Given the description of an element on the screen output the (x, y) to click on. 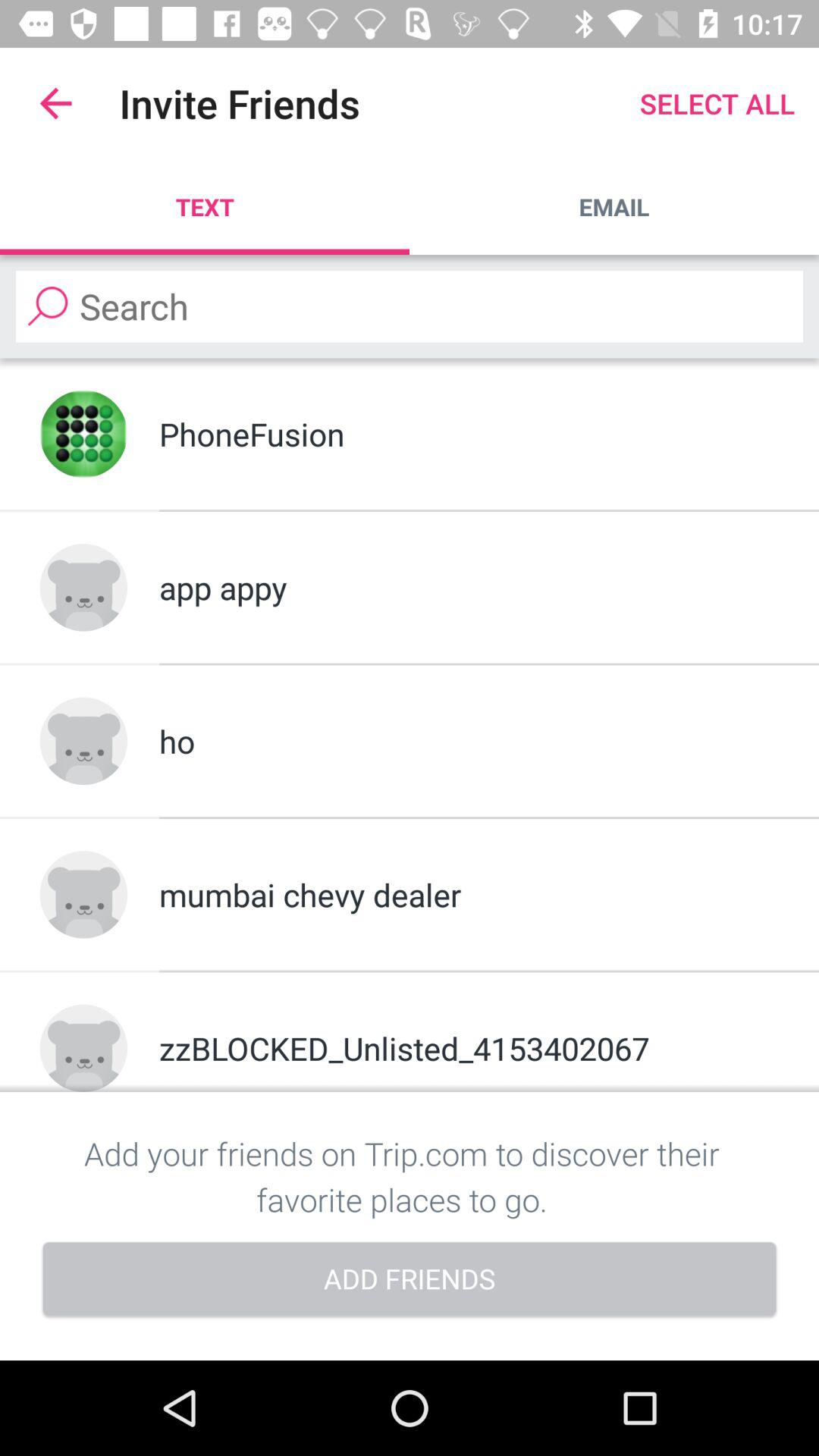
swipe until email app (614, 206)
